Given the description of an element on the screen output the (x, y) to click on. 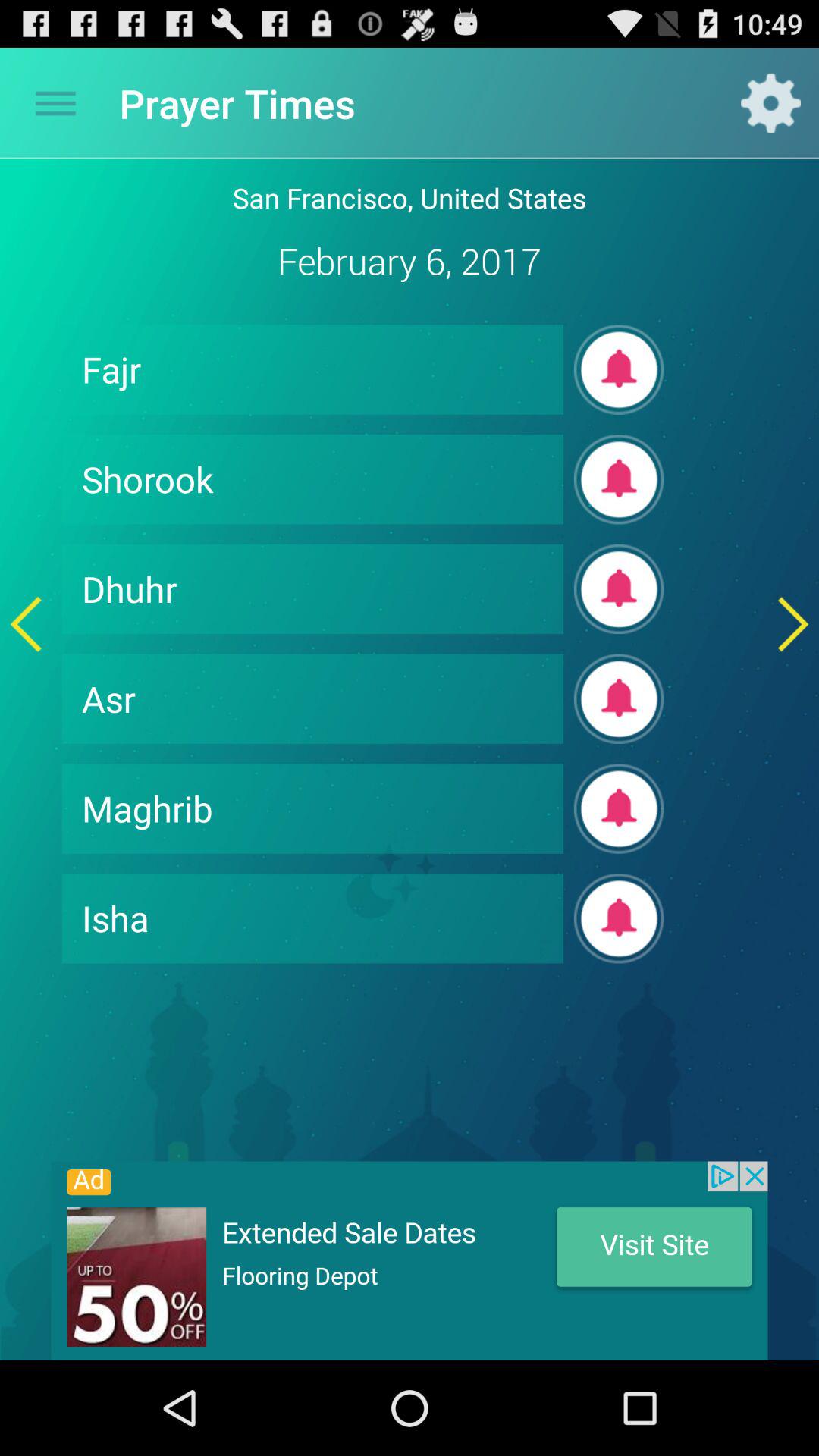
click bell button (618, 589)
